Given the description of an element on the screen output the (x, y) to click on. 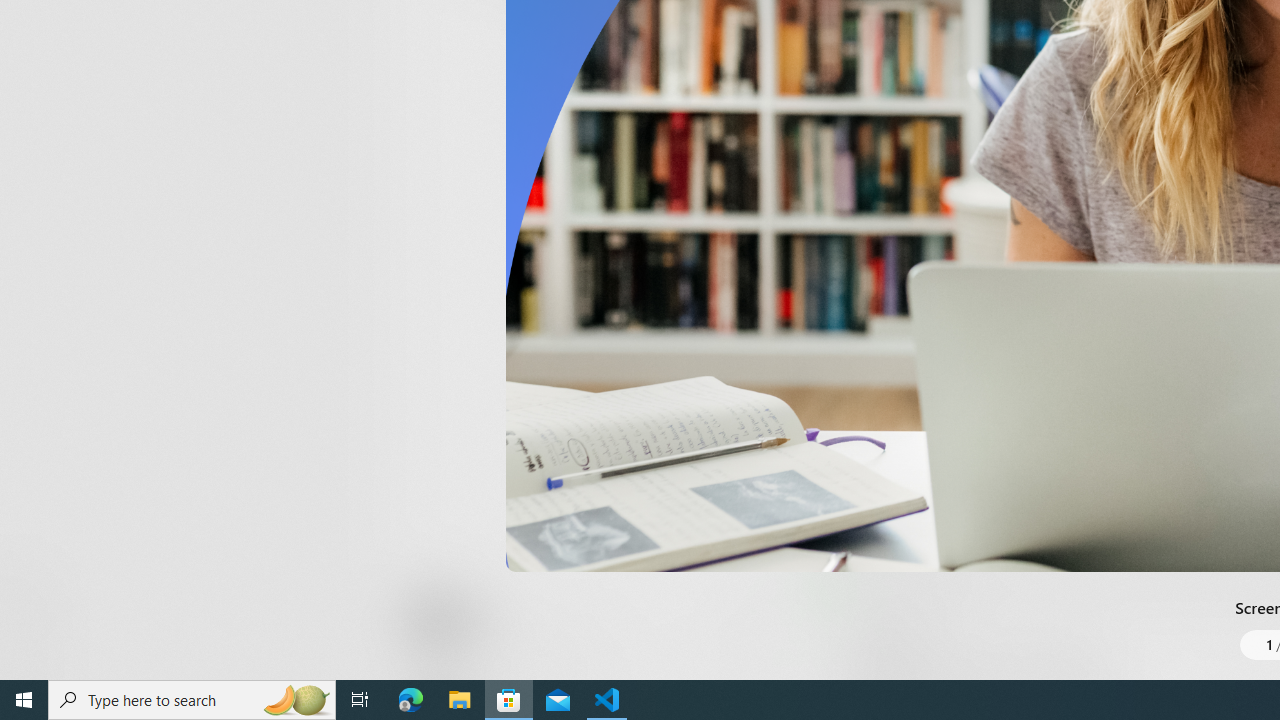
Share (746, 632)
What's New (35, 578)
Library (35, 640)
Show all ratings and reviews (838, 454)
Social (579, 23)
Age rating: TEEN. Click for more information. (488, 619)
Show more (854, 31)
